Given the description of an element on the screen output the (x, y) to click on. 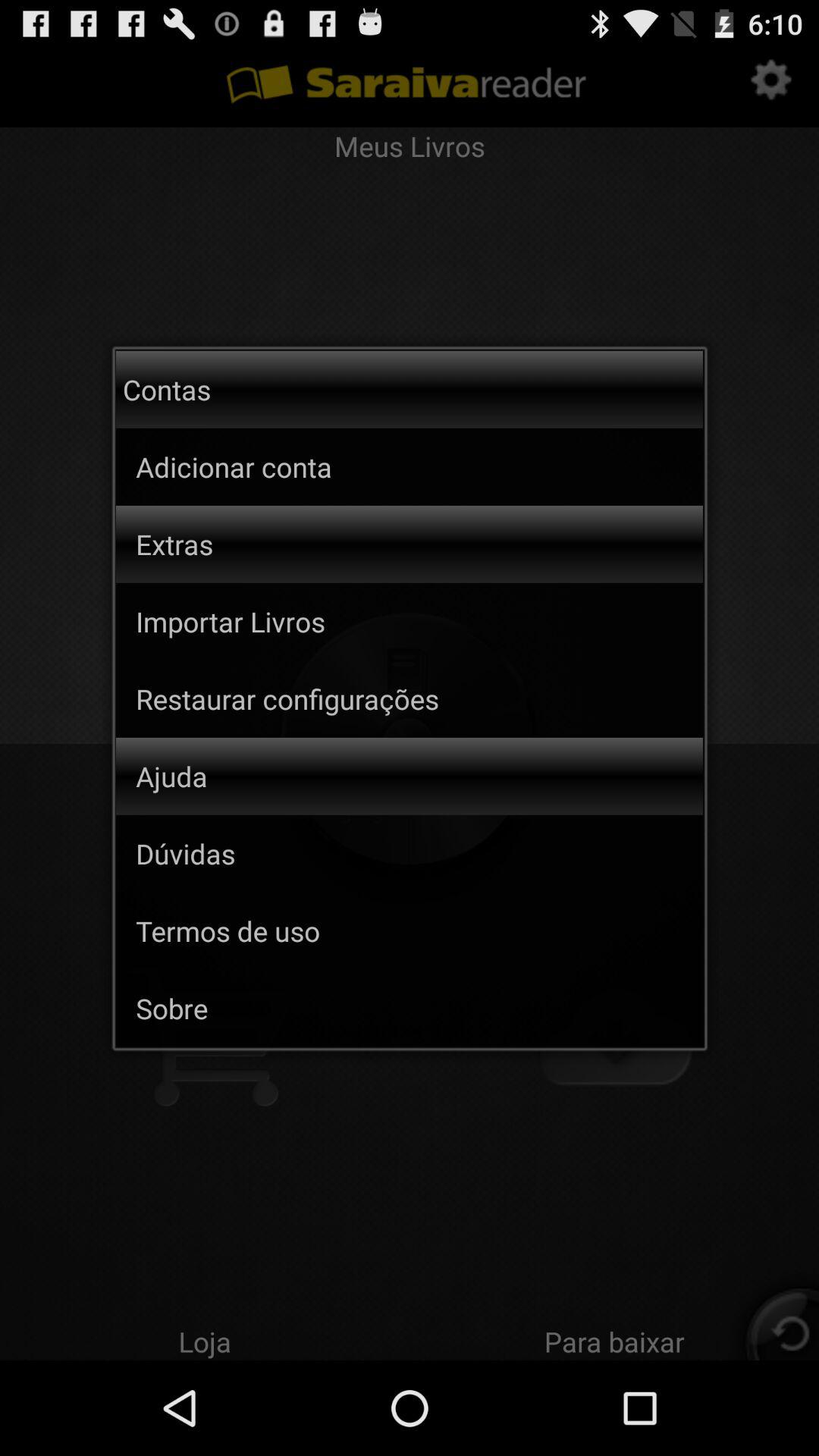
scroll to termos de uso app (418, 930)
